Given the description of an element on the screen output the (x, y) to click on. 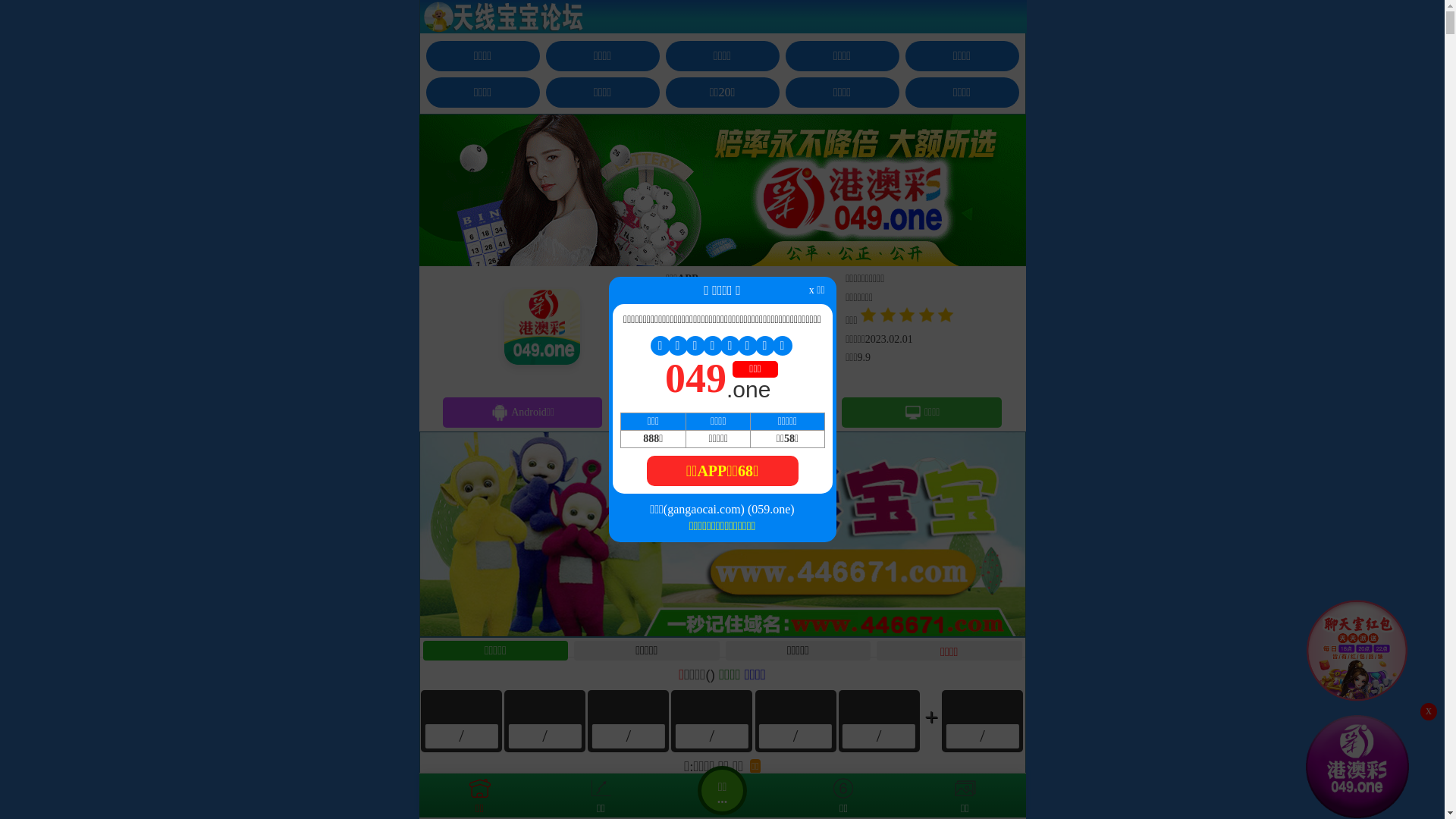
x Element type: text (1428, 711)
